Given the description of an element on the screen output the (x, y) to click on. 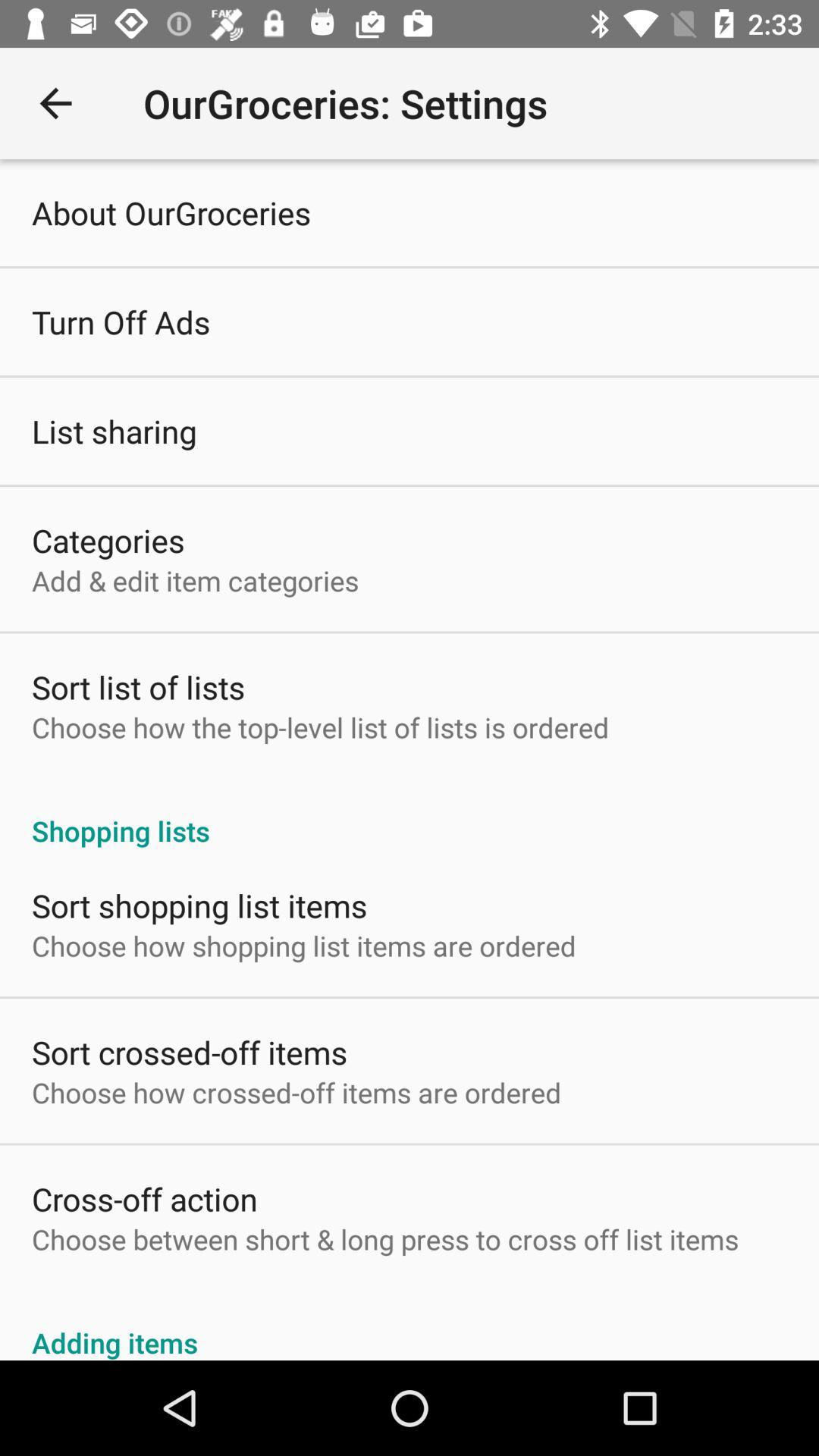
open the shopping lists icon (409, 814)
